Given the description of an element on the screen output the (x, y) to click on. 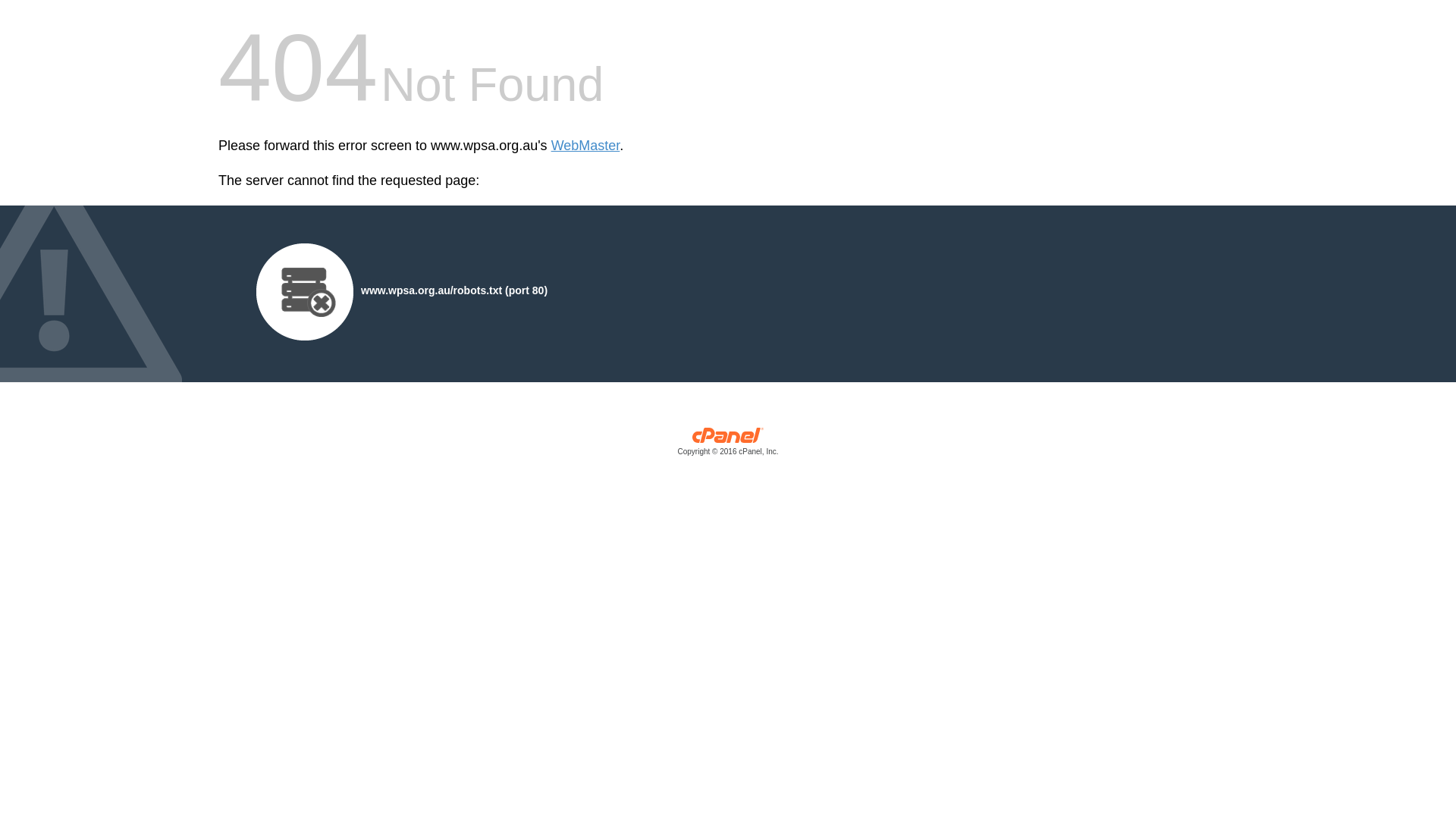
WebMaster Element type: text (585, 145)
